Given the description of an element on the screen output the (x, y) to click on. 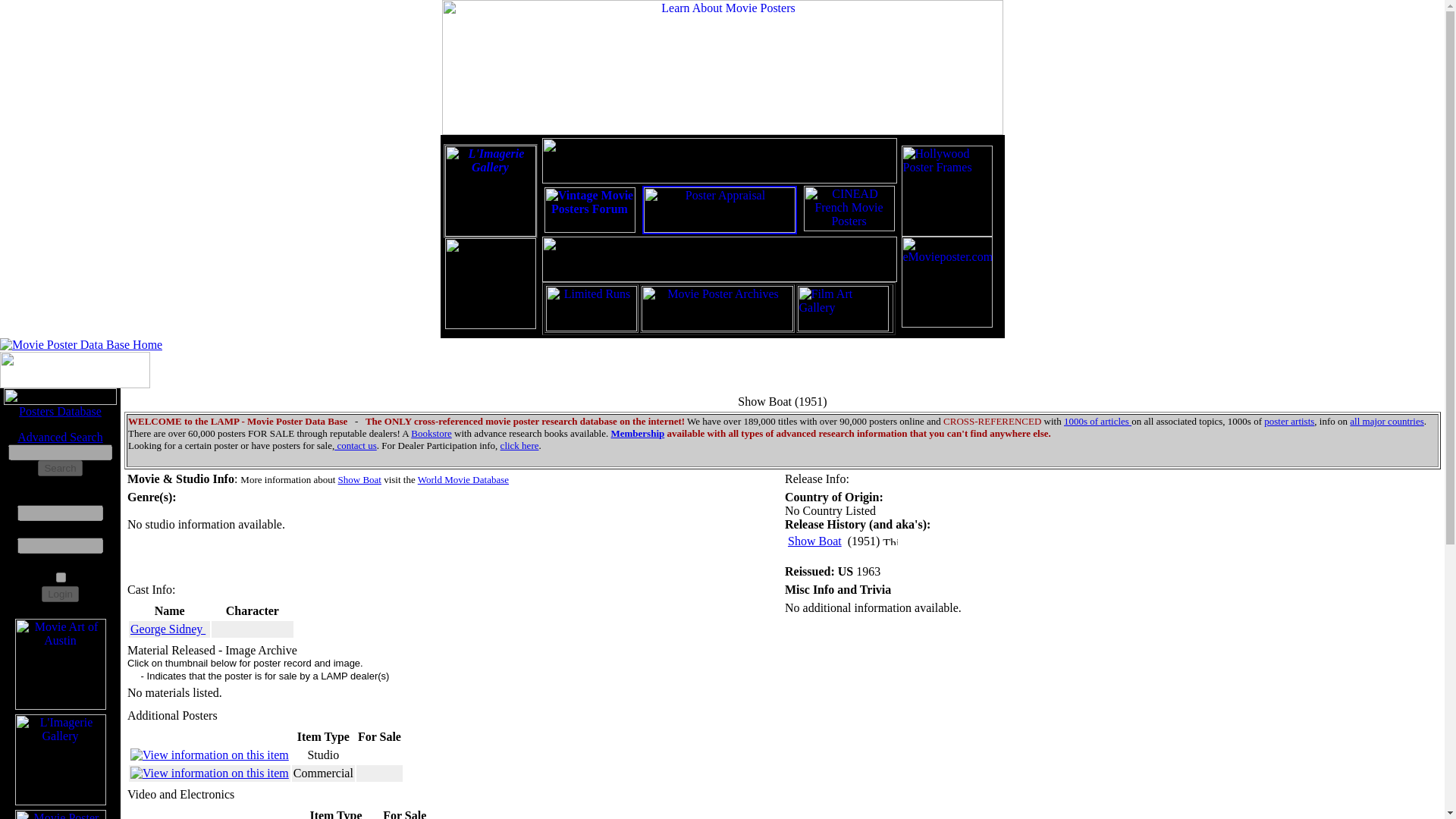
Posters Database (59, 410)
Login (60, 593)
all major countries (1386, 420)
Login (60, 593)
Bookstore (430, 432)
Show Boat (814, 540)
Show Boat (359, 479)
Membership (636, 432)
1000s of articles (1097, 420)
contact us (355, 445)
Search (59, 467)
yes (60, 577)
World Movie Database (462, 479)
George Sidney (168, 628)
Advanced Search (59, 436)
